Given the description of an element on the screen output the (x, y) to click on. 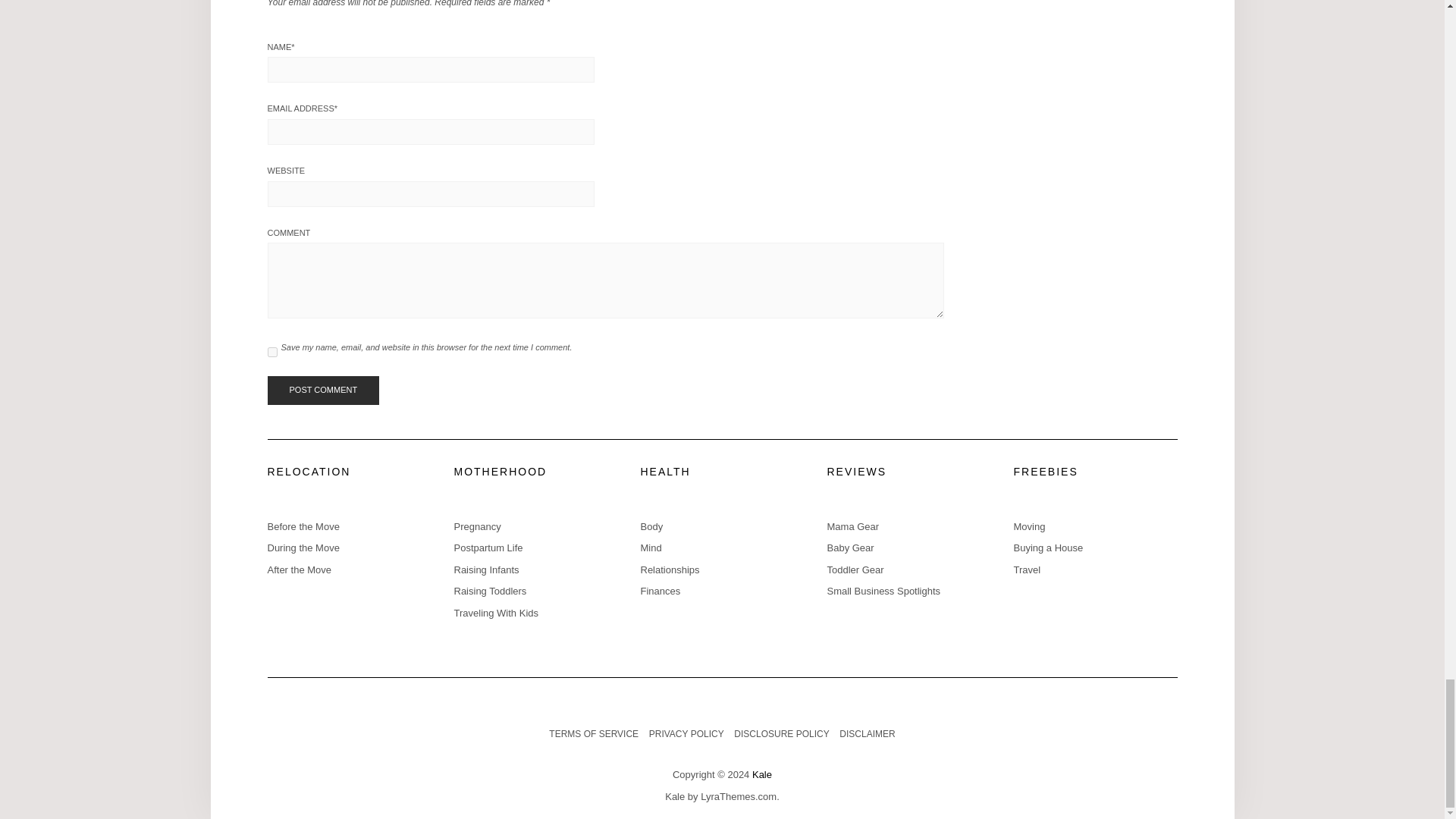
Post Comment (322, 389)
Post Comment (322, 389)
yes (271, 352)
